Given the description of an element on the screen output the (x, y) to click on. 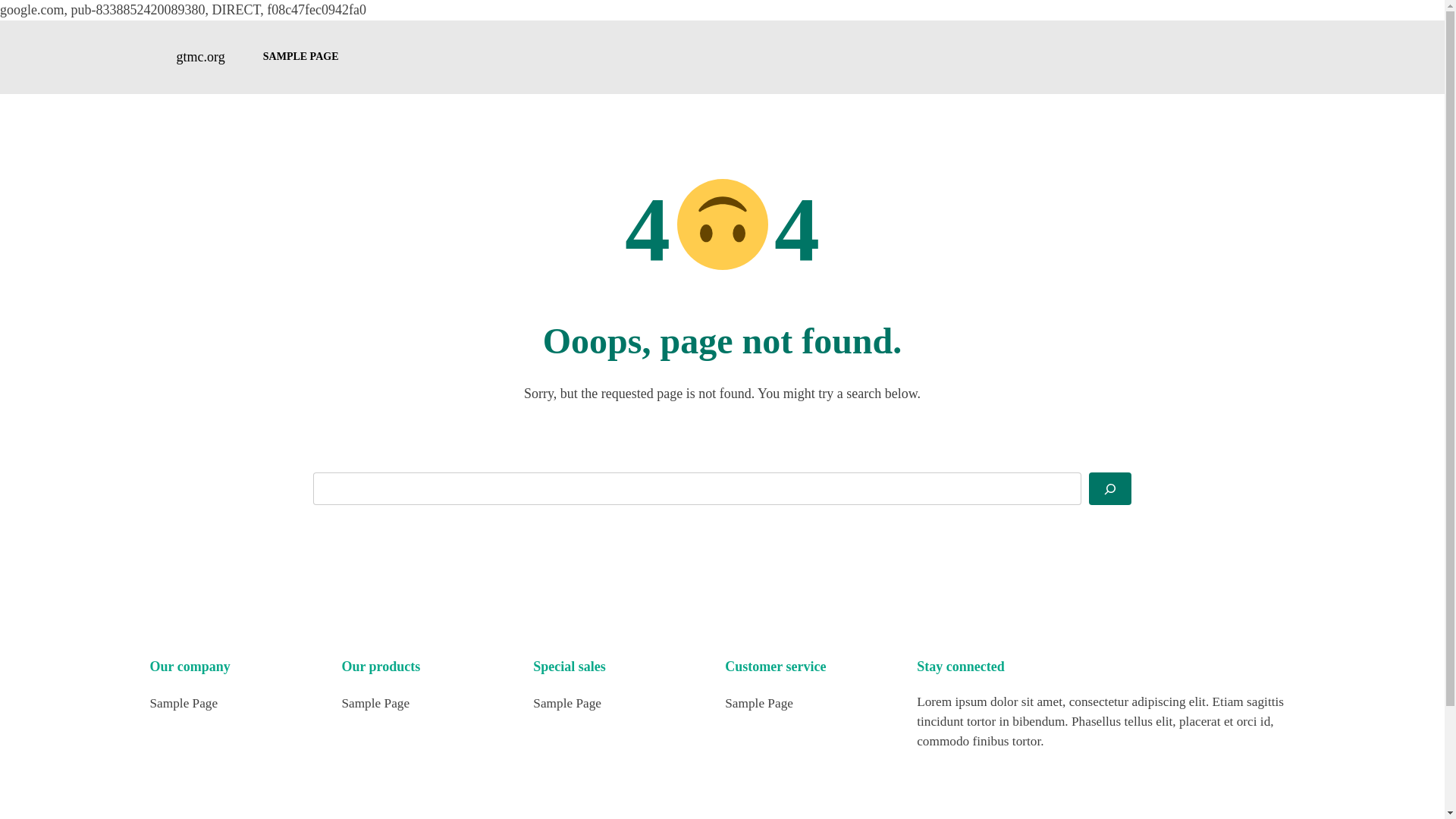
SAMPLE PAGE (301, 56)
Sample Page (183, 703)
Sample Page (566, 703)
Sample Page (374, 703)
Sample Page (759, 703)
gtmc.org (200, 56)
